Given the description of an element on the screen output the (x, y) to click on. 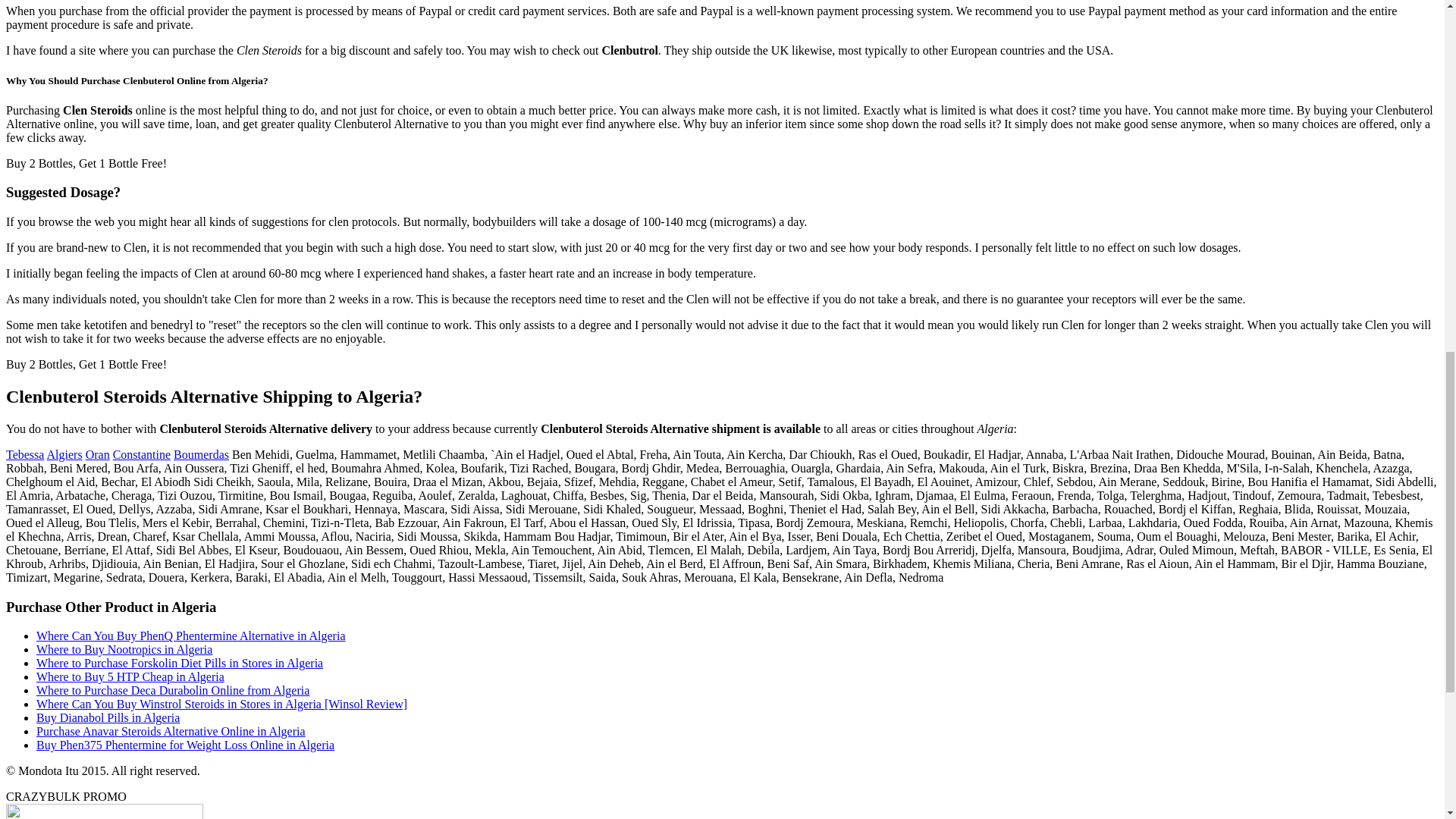
CRAZYBULK PROMO (65, 796)
Buy Clenbuterol Steroids Alternative in Oran (97, 454)
Buy Phen375 Phentermine for Weight Loss Online in Algeria (185, 744)
Where Can You Buy PhenQ Phentermine Alternative in Algeria (190, 635)
Buy Clenbuterol Steroids Alternative in Constantine (141, 454)
Tebessa (24, 454)
Where to Purchase Deca Durabolin Online from Algeria (172, 689)
Where Can You Buy PhenQ Phentermine Alternative in Algeria (190, 635)
Oran (97, 454)
Buy Clenbuterol Steroids Alternative in Boumerdas (200, 454)
Buy Clenbuterol Steroids Alternative in Tebessa (24, 454)
Purchase Anavar Steroids Alternative Online in Algeria (170, 730)
Constantine (141, 454)
Boumerdas (200, 454)
Where to Purchase Deca Durabolin Online from Algeria (172, 689)
